Given the description of an element on the screen output the (x, y) to click on. 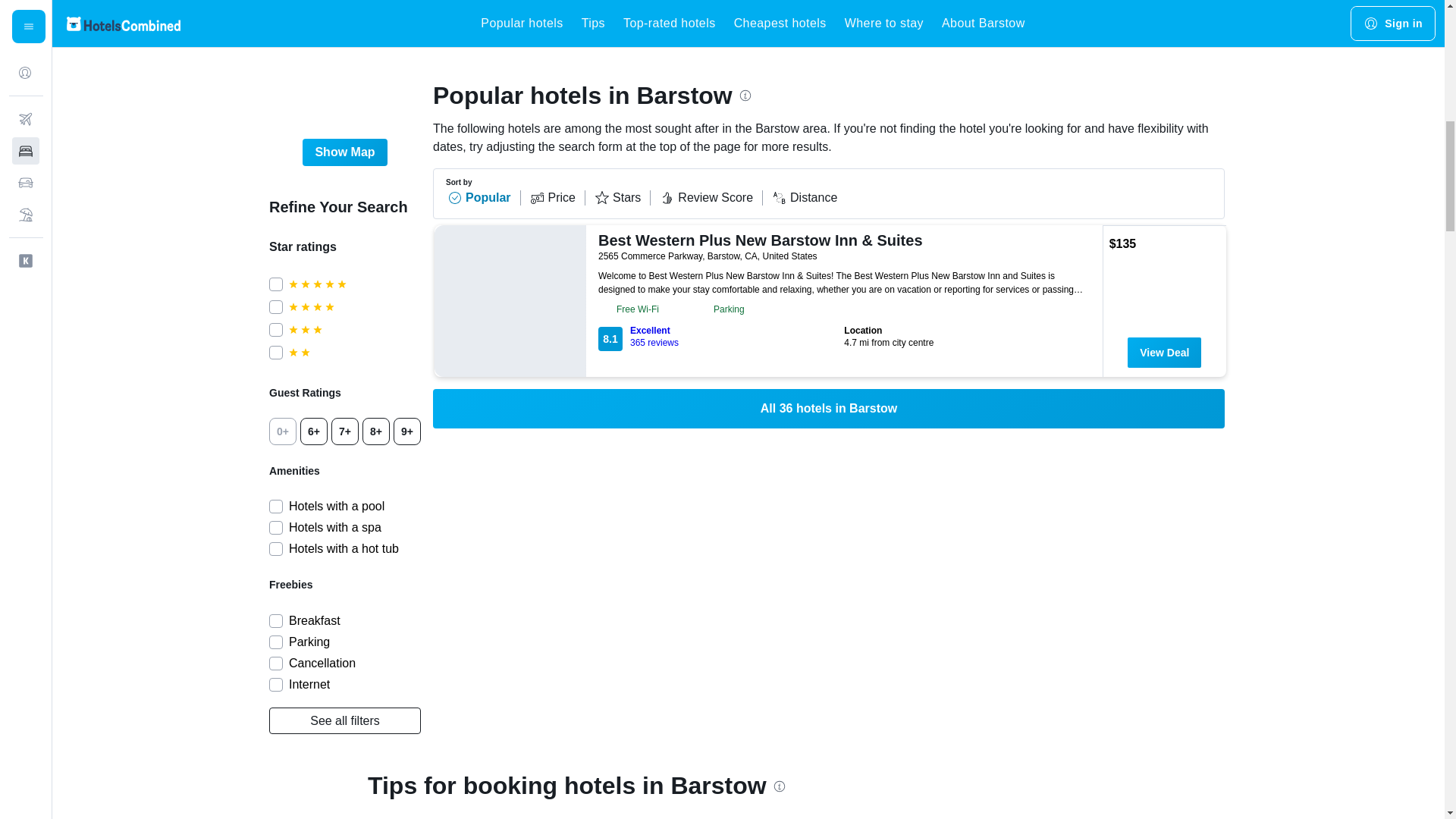
Review Score (710, 197)
Price (557, 197)
5 stars (354, 284)
See all filters (721, 337)
3 stars (344, 720)
United States Hotels (354, 329)
Distance (445, 22)
Home (804, 197)
California Hotels (373, 22)
Stars (573, 22)
2 stars (622, 197)
4 stars (354, 352)
Show Map (354, 306)
